Given the description of an element on the screen output the (x, y) to click on. 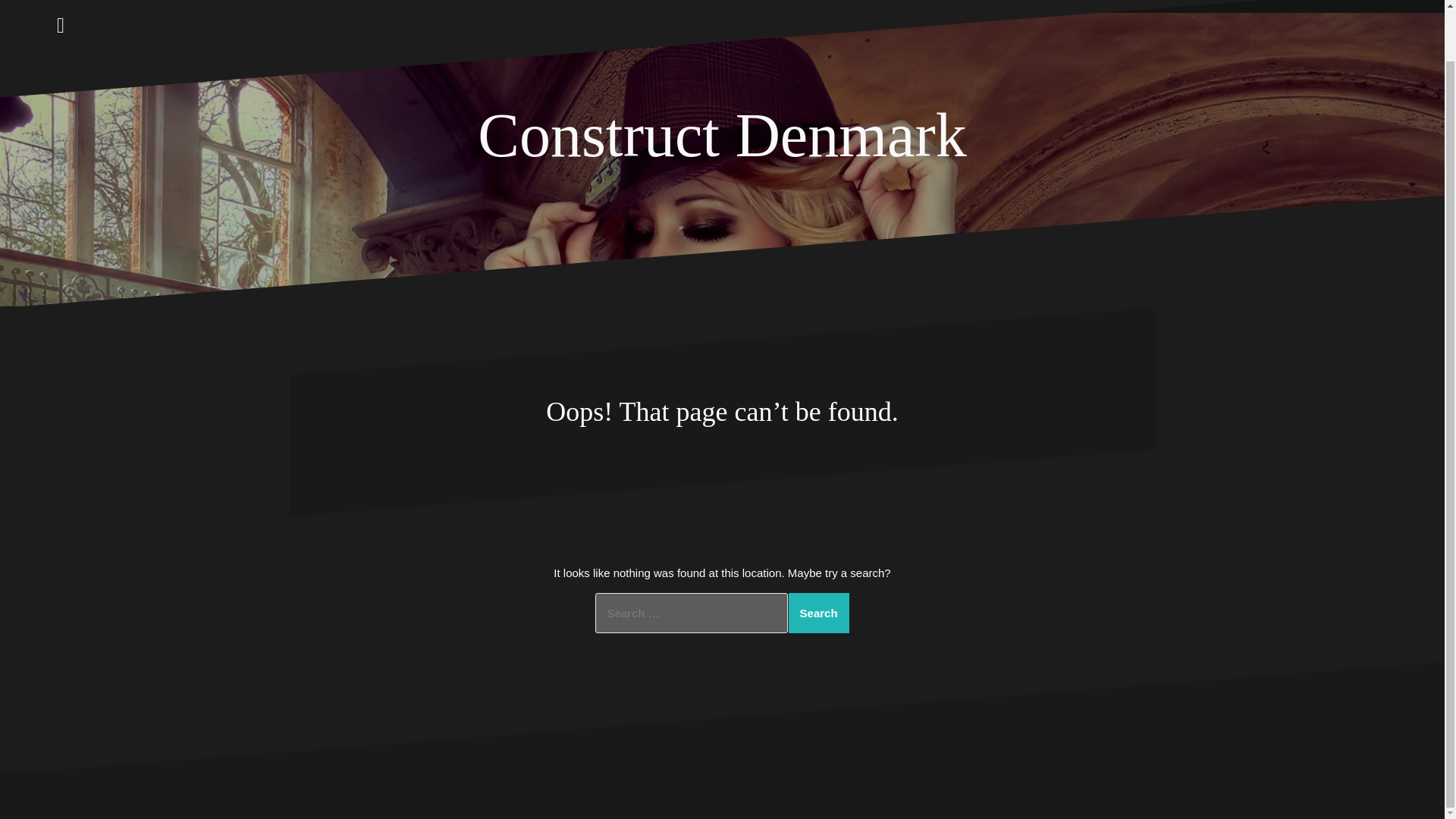
Search (818, 612)
Search (818, 612)
Construct Denmark (721, 134)
Search (818, 612)
